Given the description of an element on the screen output the (x, y) to click on. 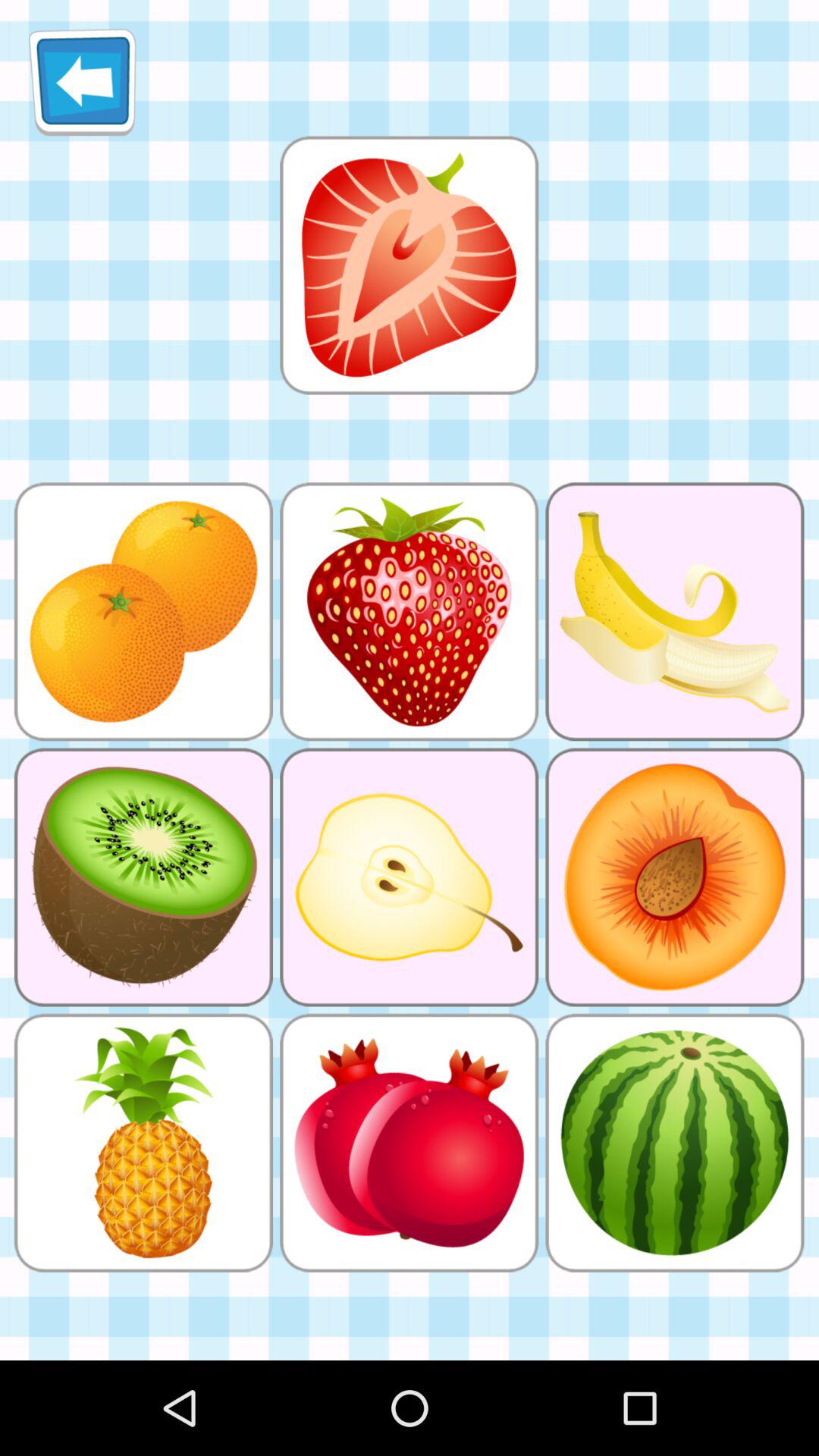
click the app (409, 265)
